Given the description of an element on the screen output the (x, y) to click on. 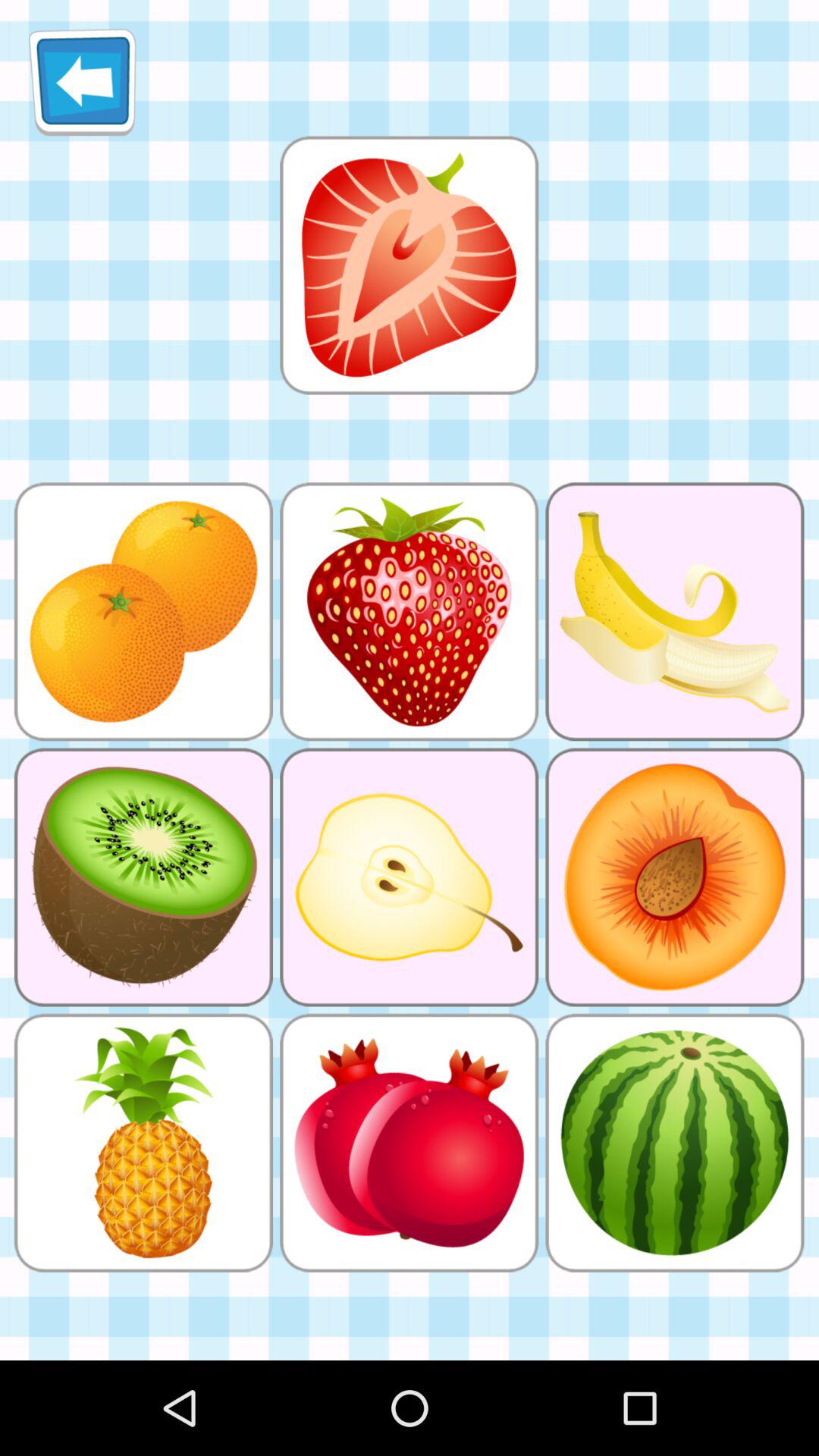
click the app (409, 265)
